Given the description of an element on the screen output the (x, y) to click on. 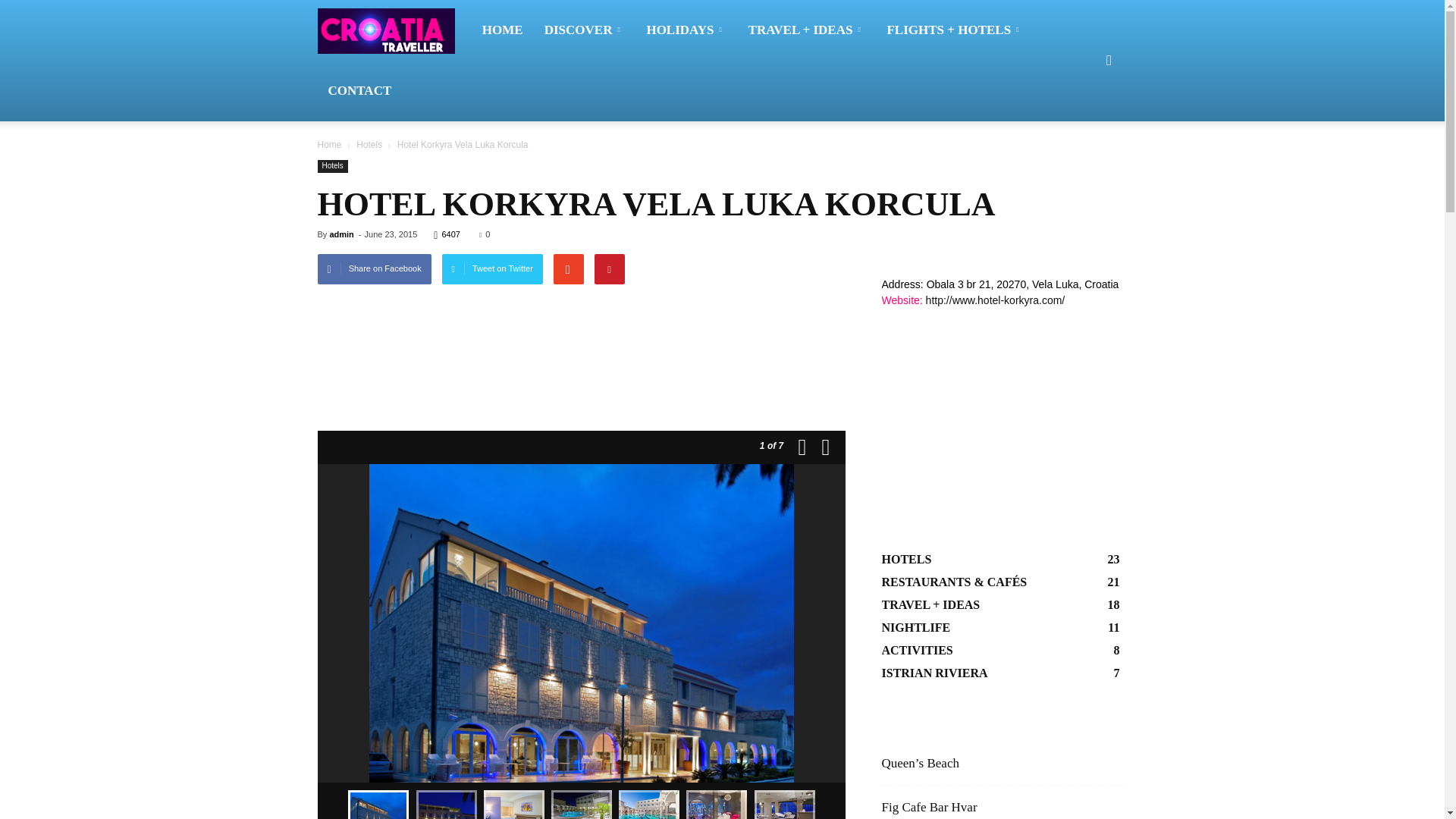
View all posts in Hotels (368, 144)
Croatia Traveller (393, 30)
DISCOVER (585, 30)
Advertisement (580, 341)
HOME (502, 30)
